Given the description of an element on the screen output the (x, y) to click on. 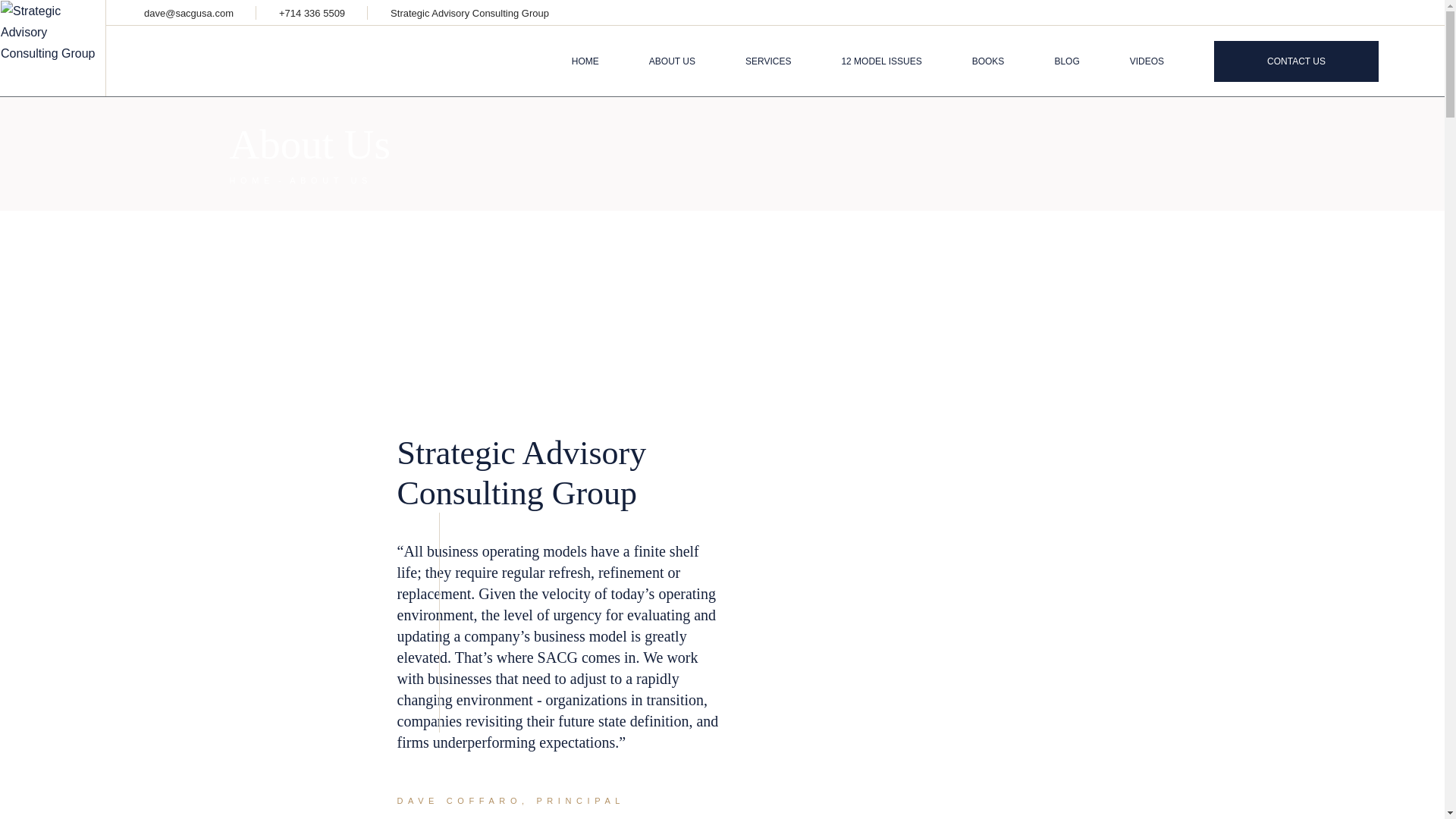
CONTACT US (1296, 60)
12 MODEL ISSUES (881, 60)
